Given the description of an element on the screen output the (x, y) to click on. 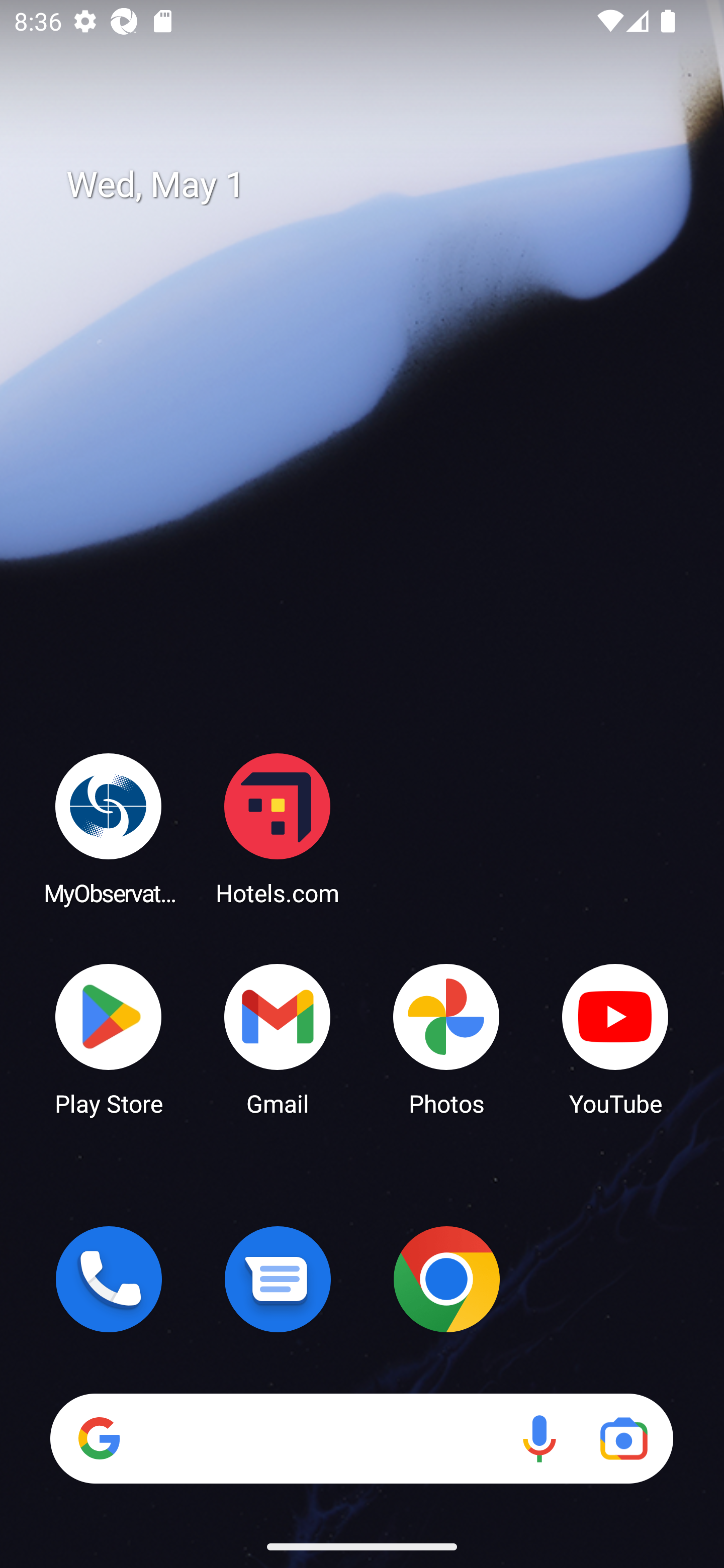
Wed, May 1 (375, 184)
MyObservatory (108, 828)
Hotels.com (277, 828)
Play Store (108, 1038)
Gmail (277, 1038)
Photos (445, 1038)
YouTube (615, 1038)
Phone (108, 1279)
Messages (277, 1279)
Chrome (446, 1279)
Search Voice search Google Lens (361, 1438)
Voice search (539, 1438)
Google Lens (623, 1438)
